Given the description of an element on the screen output the (x, y) to click on. 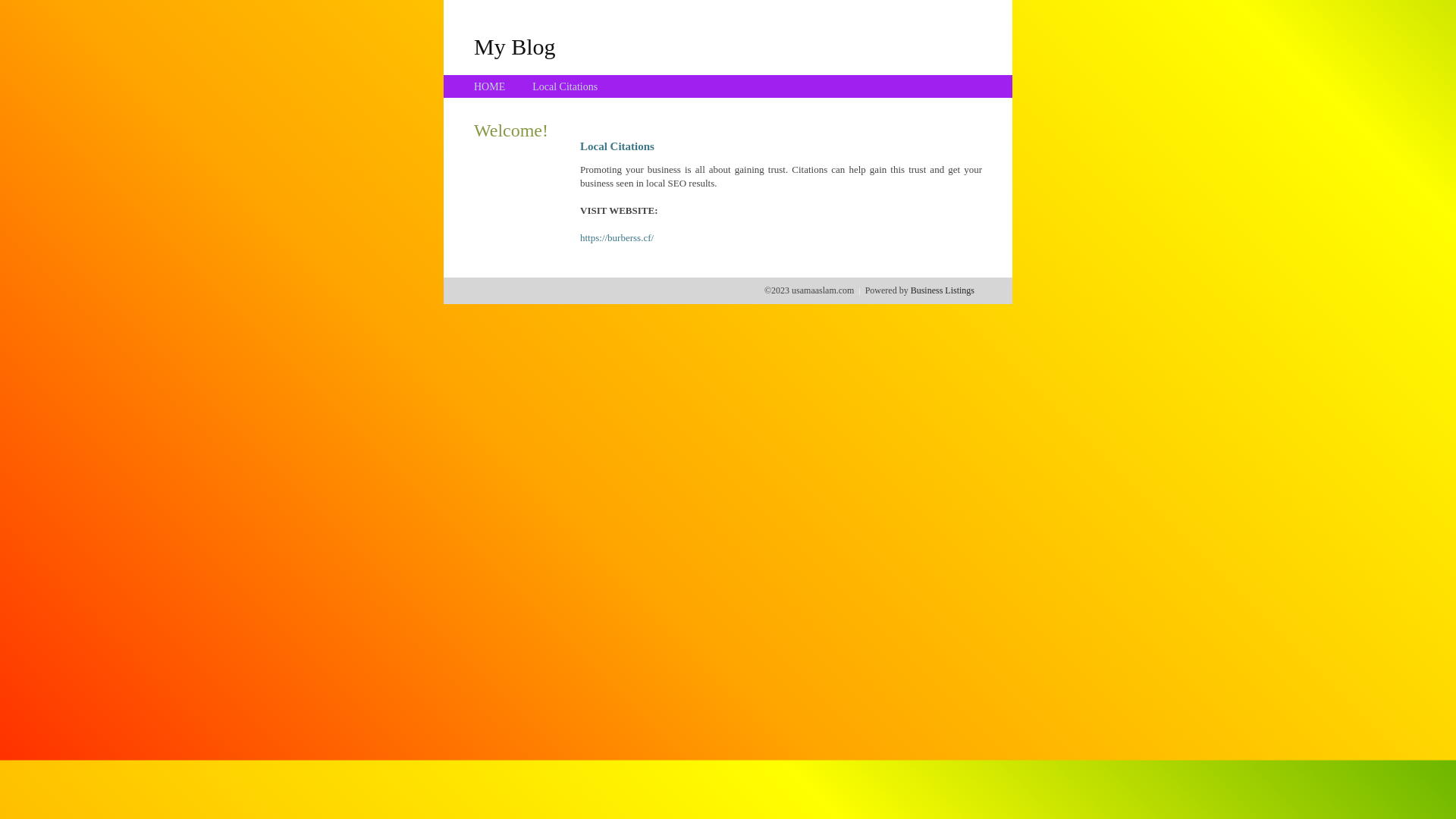
Business Listings Element type: text (942, 290)
Local Citations Element type: text (564, 86)
HOME Element type: text (489, 86)
https://burberss.cf/ Element type: text (616, 237)
My Blog Element type: text (514, 46)
